Given the description of an element on the screen output the (x, y) to click on. 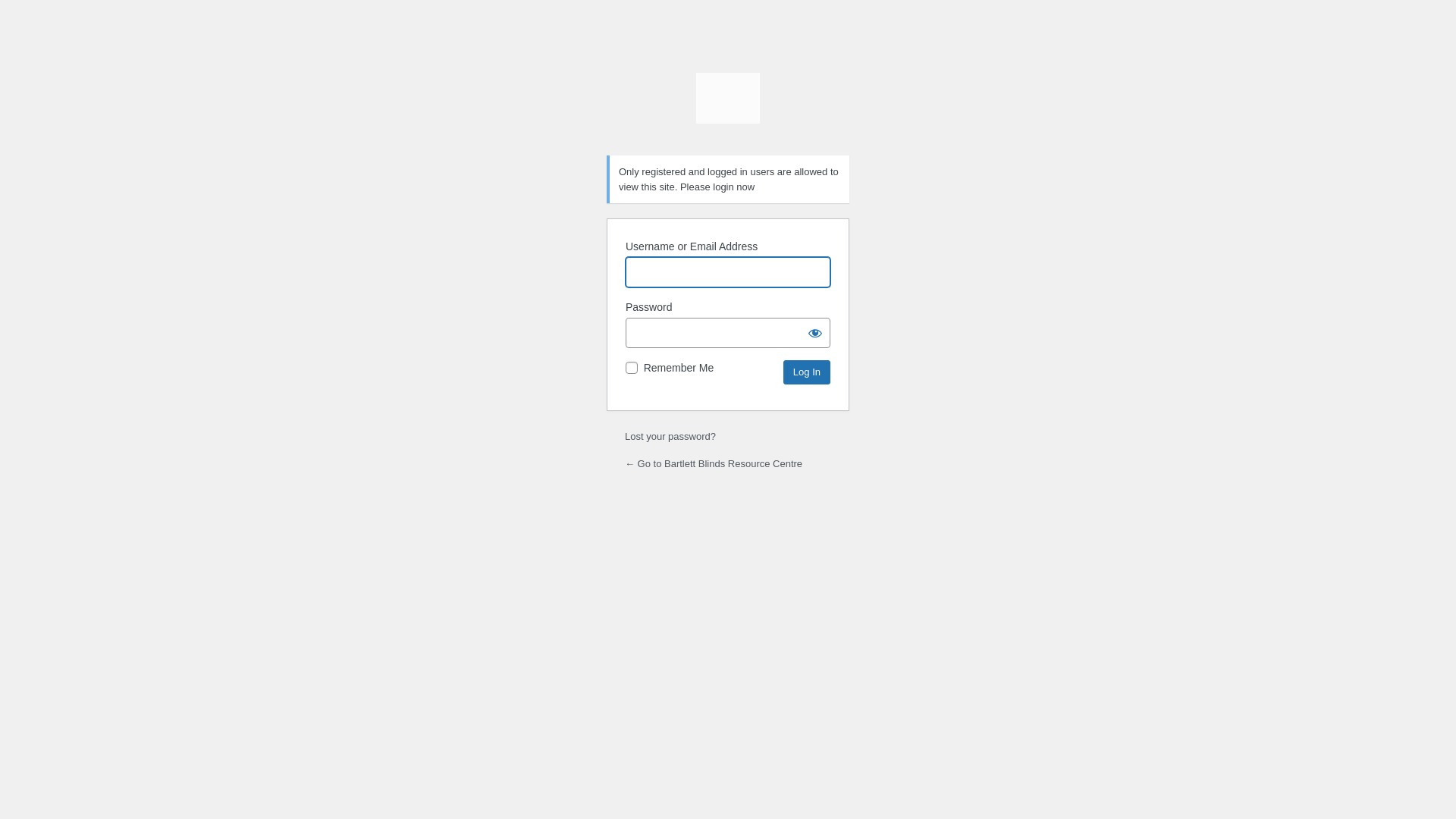
Log In Element type: text (806, 372)
Lost your password? Element type: text (669, 436)
Powered by WordPress Element type: text (727, 104)
